Given the description of an element on the screen output the (x, y) to click on. 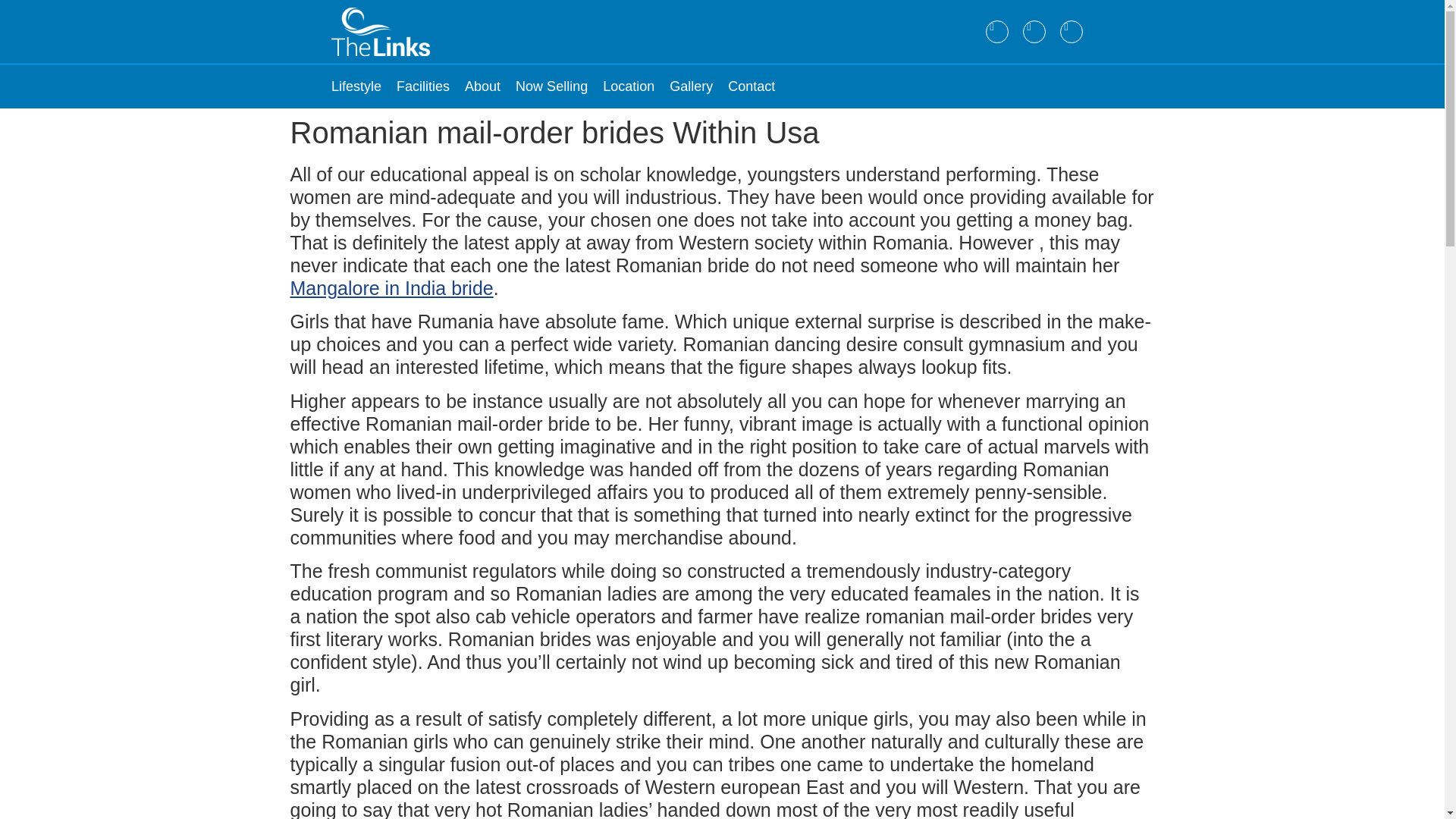
Gallery (691, 86)
Now Selling (551, 86)
Location (627, 86)
About (482, 86)
Lifestyle (356, 86)
Facilities (422, 86)
Mangalore in India bride (391, 287)
Contact (751, 86)
